Given the description of an element on the screen output the (x, y) to click on. 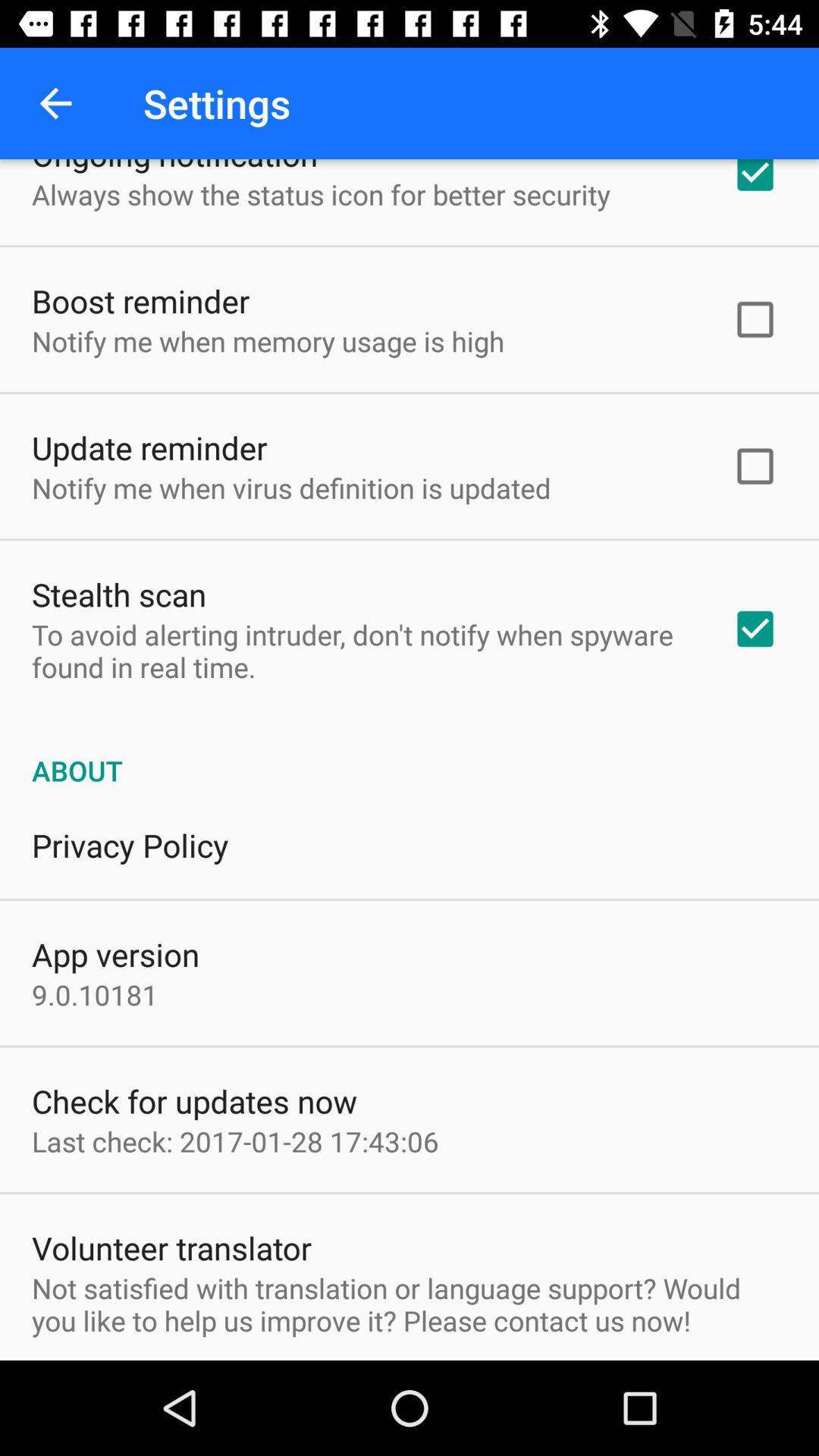
turn on icon above check for updates (94, 994)
